Given the description of an element on the screen output the (x, y) to click on. 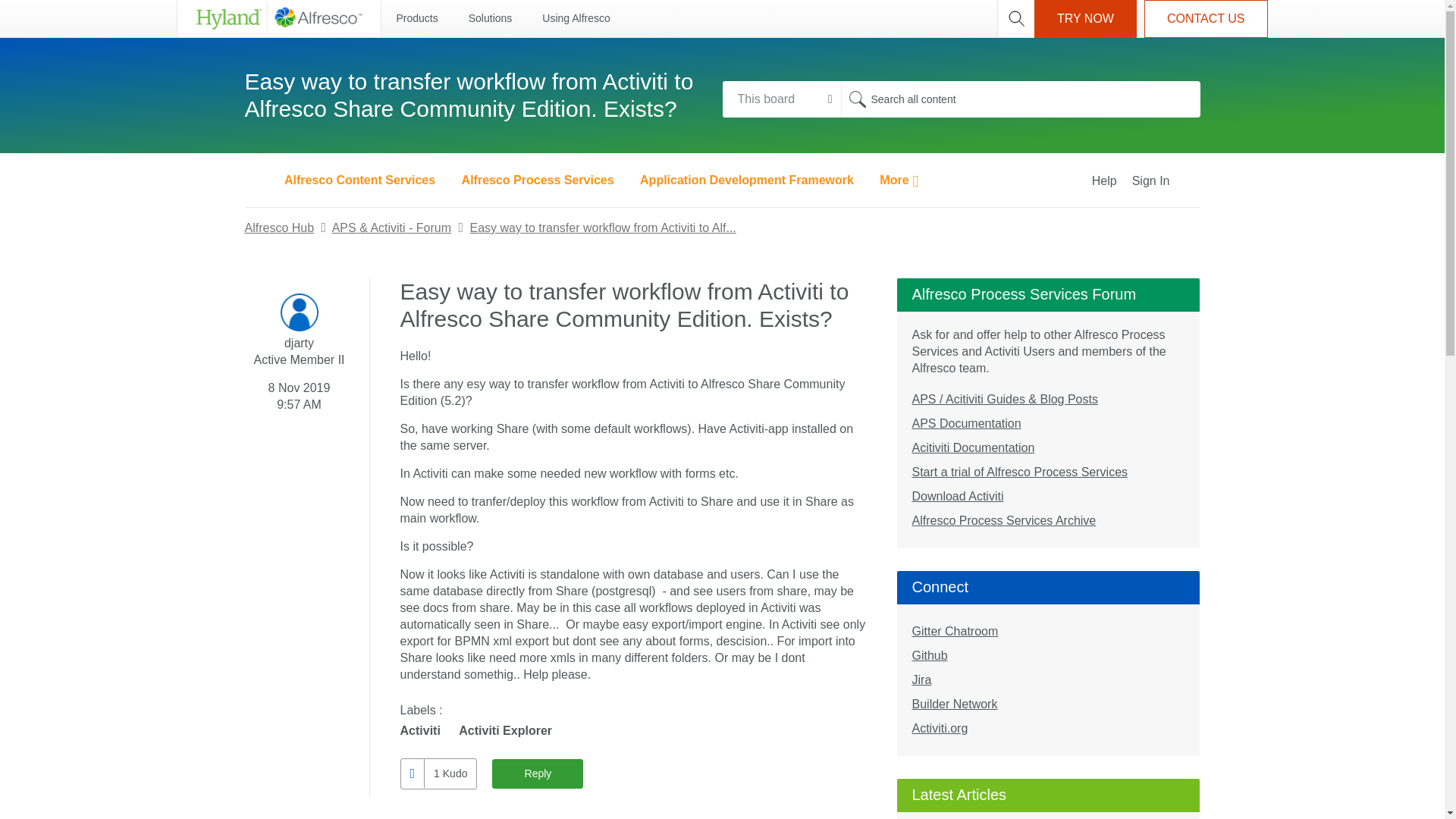
Using Alfresco (575, 18)
Search Granularity (781, 98)
Community (256, 180)
Alfresco Content Services (359, 180)
Help (1104, 180)
Search (856, 98)
Sign In (1167, 180)
Click here to see who gave kudos to this post. (449, 773)
TRY NOW (1085, 18)
Search (1019, 98)
